Given the description of an element on the screen output the (x, y) to click on. 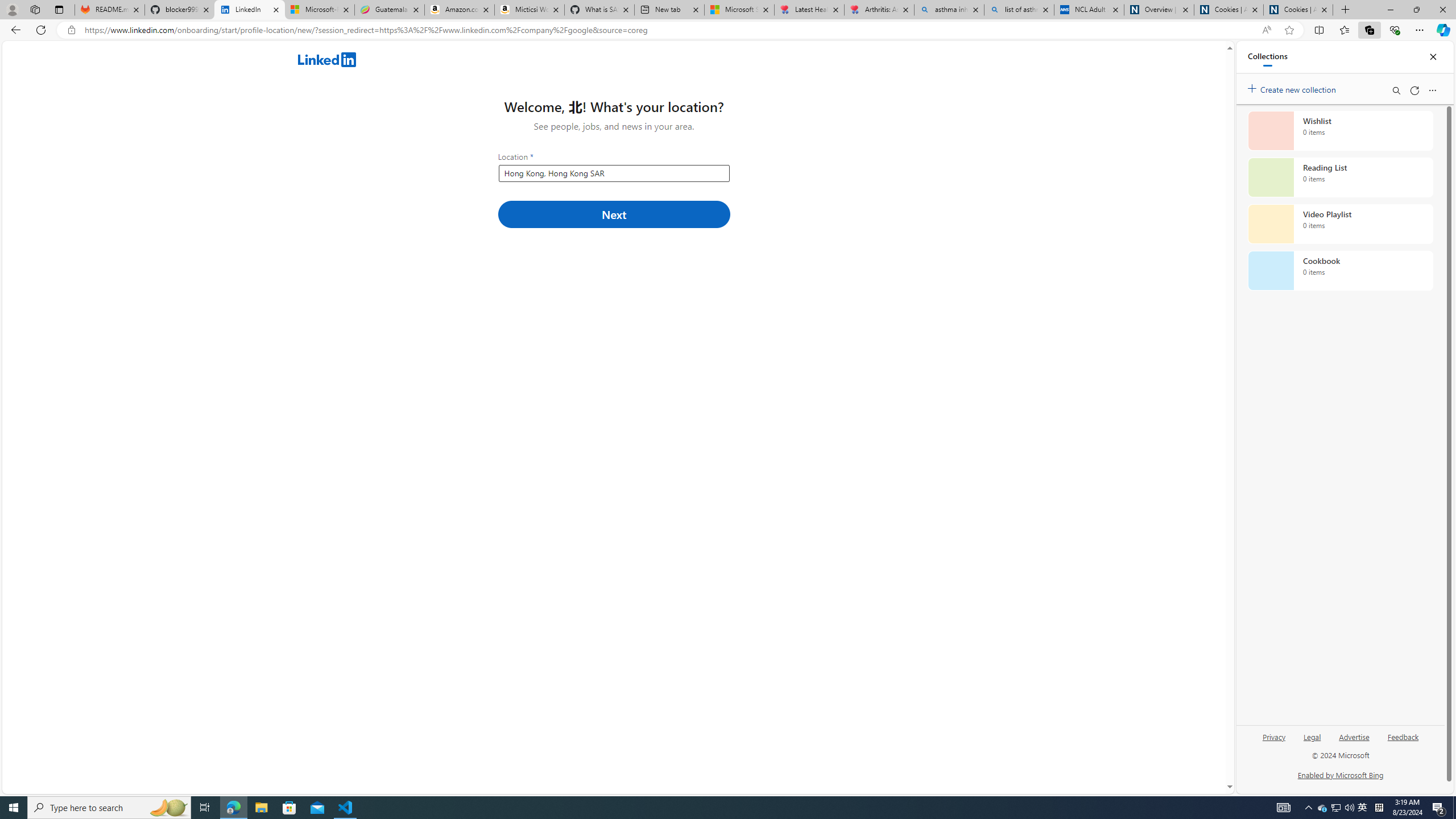
Create new collection (1293, 87)
